Given the description of an element on the screen output the (x, y) to click on. 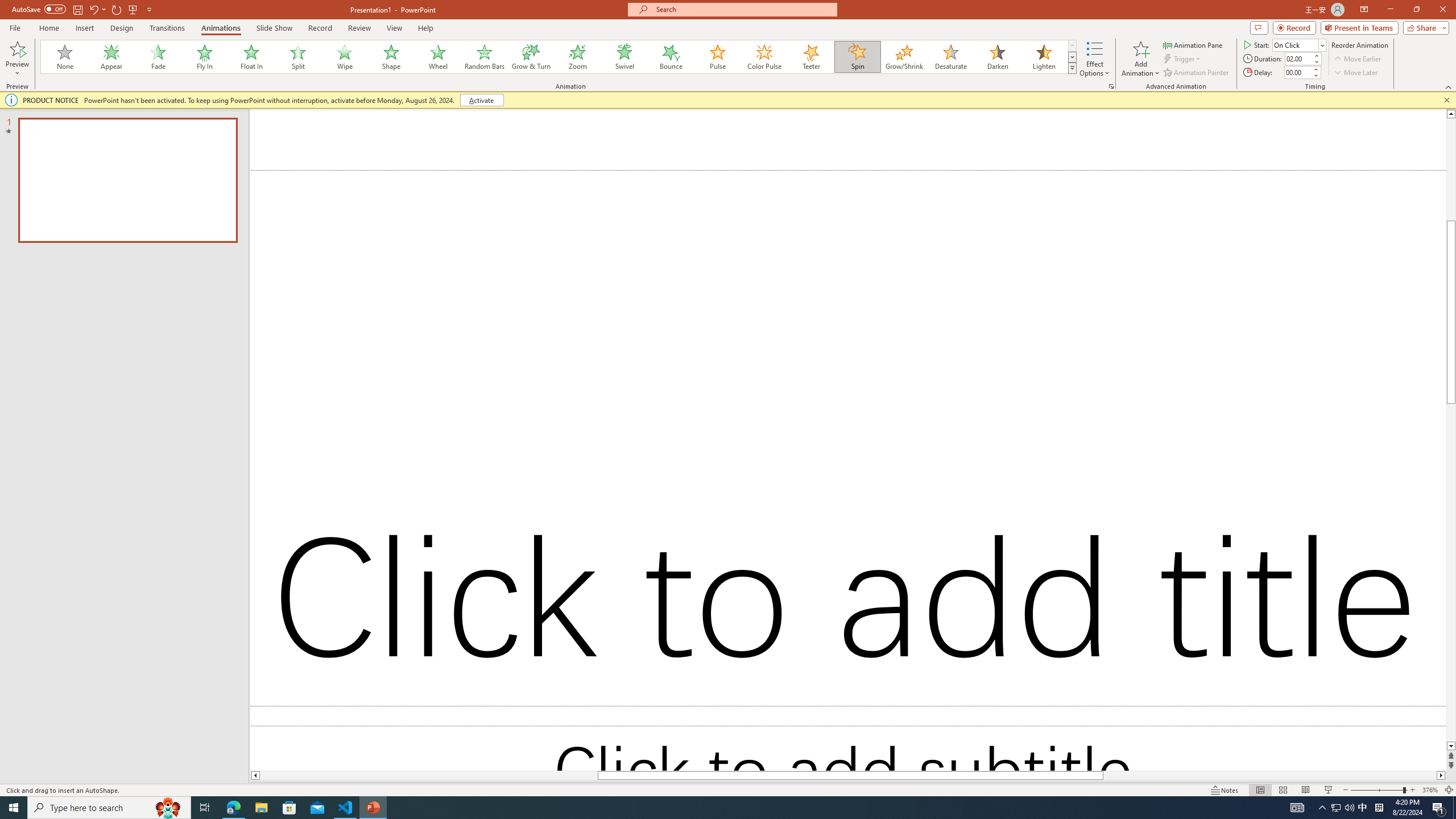
Microsoft search (742, 9)
Add Animation (1141, 58)
Color Pulse (764, 56)
Desaturate (950, 56)
